Given the description of an element on the screen output the (x, y) to click on. 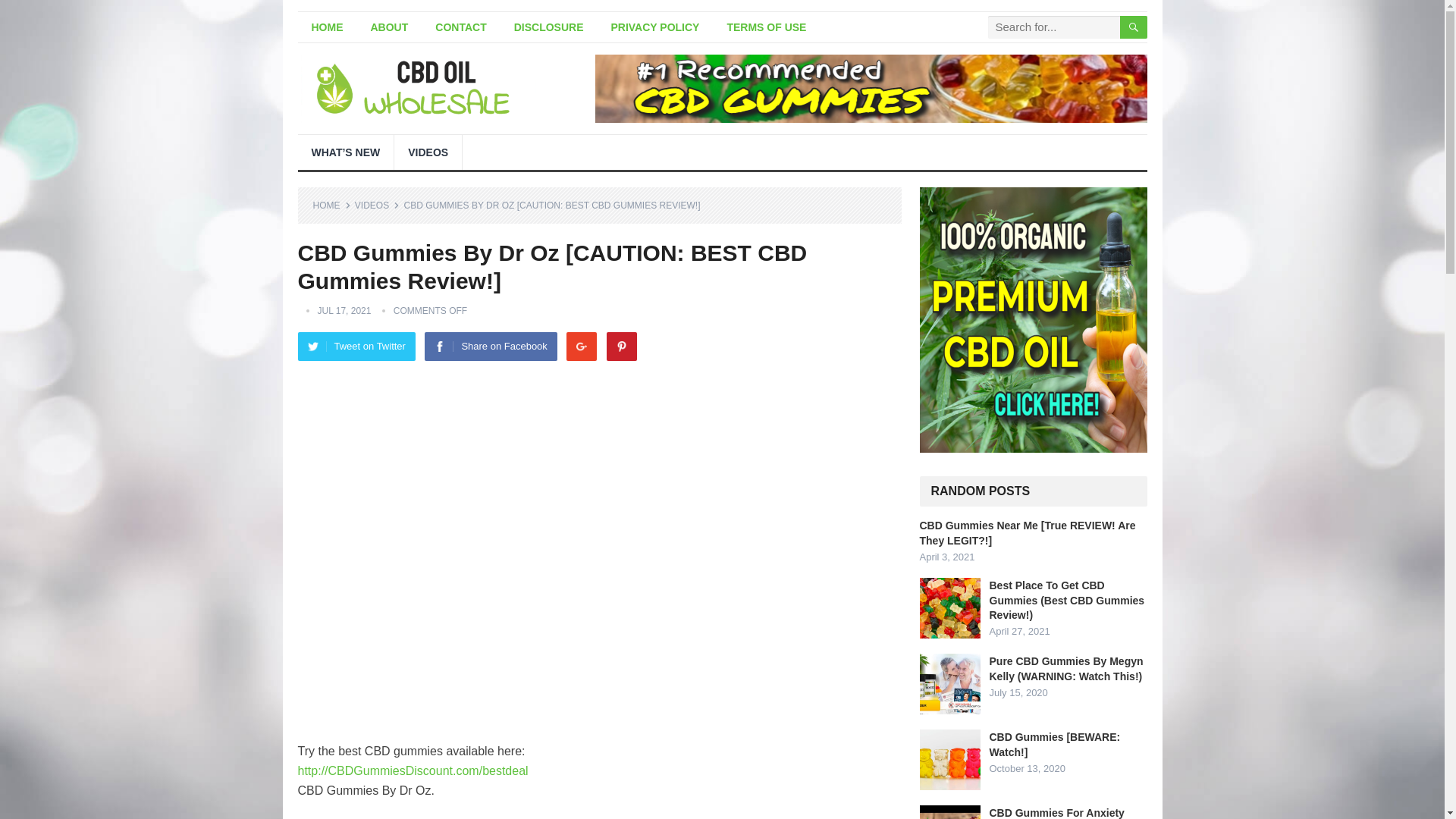
ABOUT (389, 27)
Tweet on Twitter (355, 346)
HOME (326, 27)
Pinterest (622, 346)
CONTACT (460, 27)
View all posts in Videos (376, 204)
TERMS OF USE (766, 27)
VIDEOS (427, 152)
Share on Facebook (490, 346)
